Given the description of an element on the screen output the (x, y) to click on. 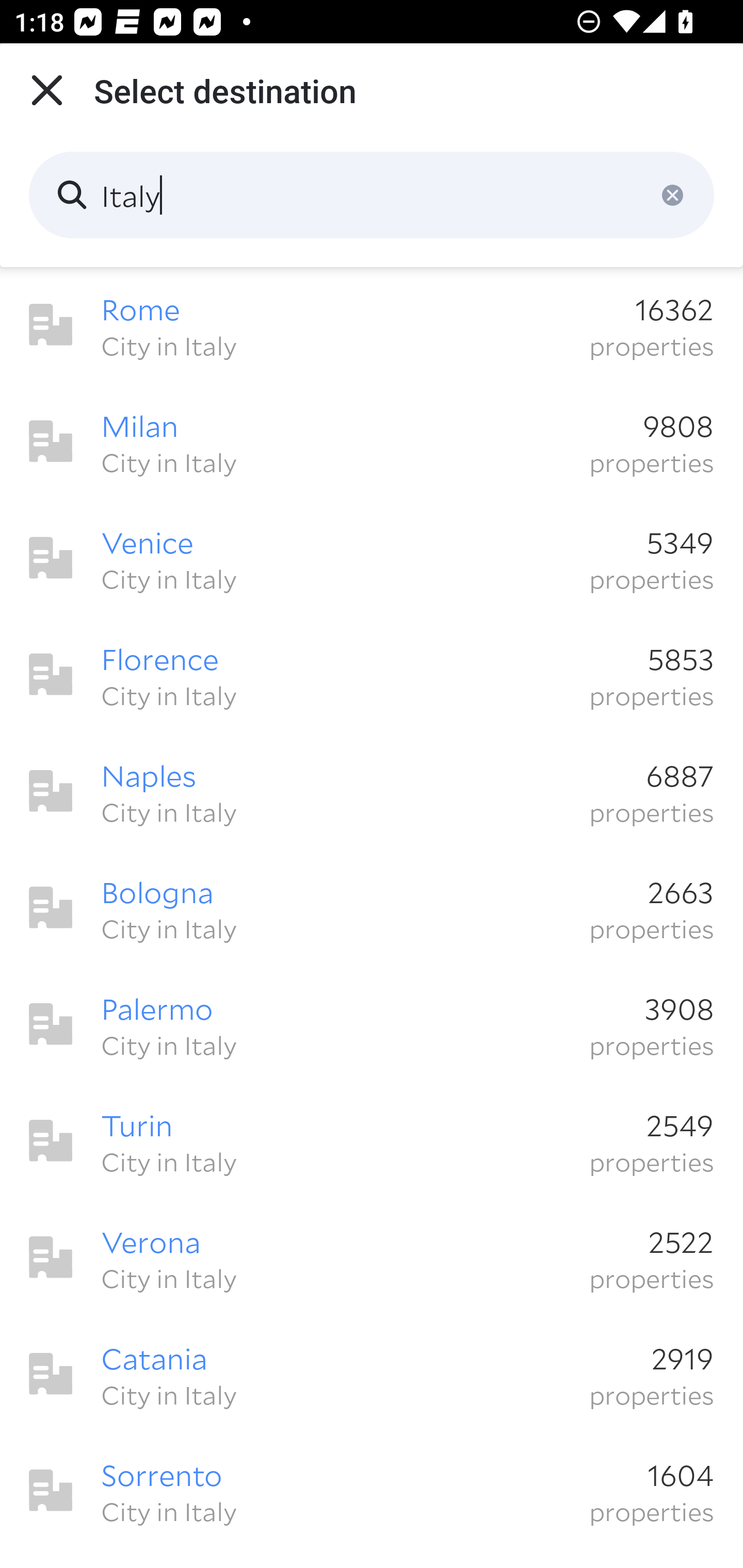
Italy (371, 195)
Rome 16362 City in Italy properties (371, 325)
Milan 9808 City in Italy properties (371, 442)
Venice 5349 City in Italy properties (371, 558)
Florence 5853 City in Italy properties (371, 674)
Naples 6887 City in Italy properties (371, 791)
Bologna 2663 City in Italy properties (371, 907)
Palermo 3908 City in Italy properties (371, 1024)
Turin 2549 City in Italy properties (371, 1141)
Verona 2522 City in Italy properties (371, 1257)
Catania 2919 City in Italy properties (371, 1374)
Sorrento 1604 City in Italy properties (371, 1491)
